Given the description of an element on the screen output the (x, y) to click on. 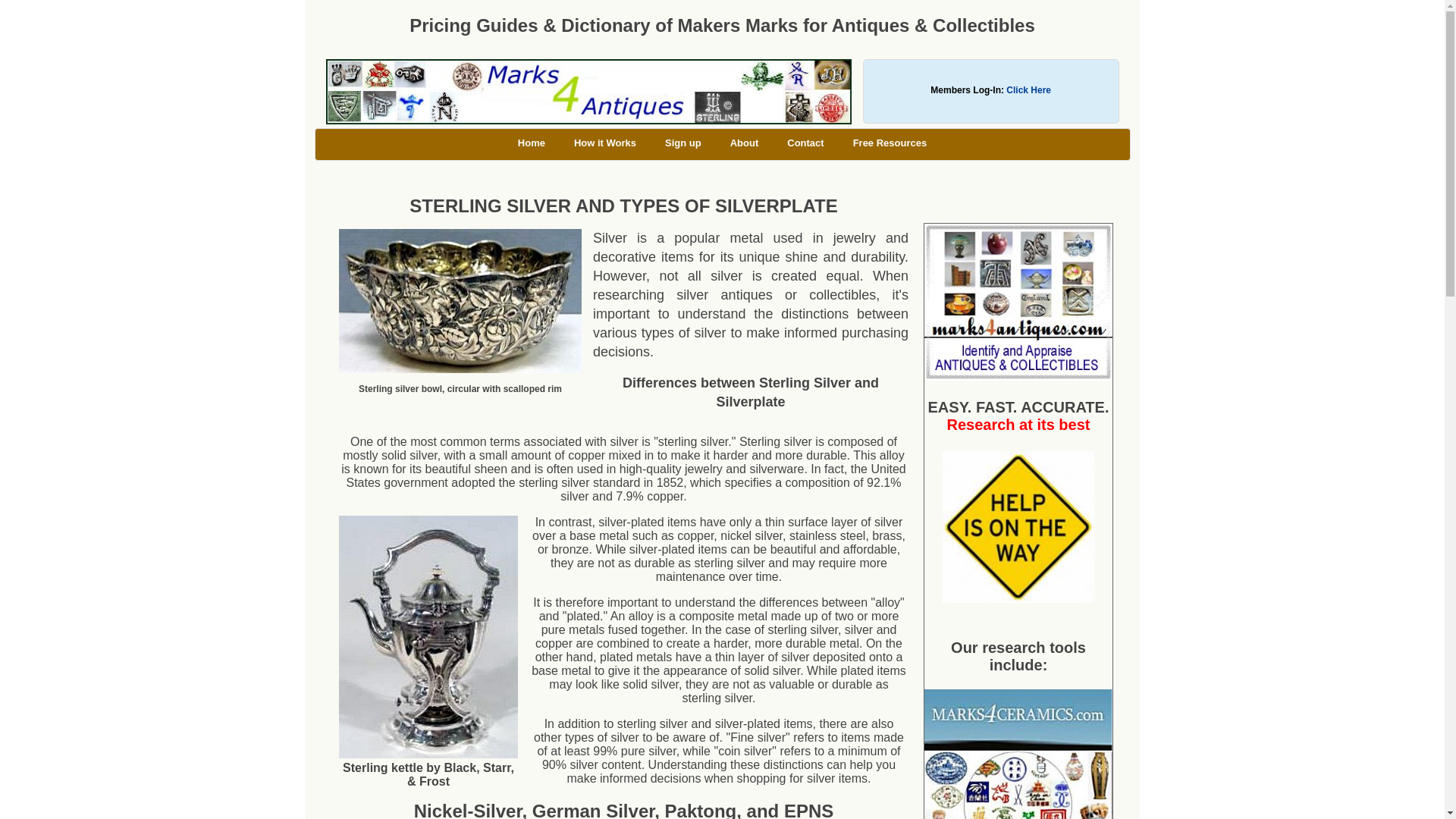
How it Works (604, 142)
Home (531, 142)
Free Resources (890, 142)
About (744, 142)
Sign up (683, 142)
Contact (805, 142)
Click Here (1028, 90)
